Given the description of an element on the screen output the (x, y) to click on. 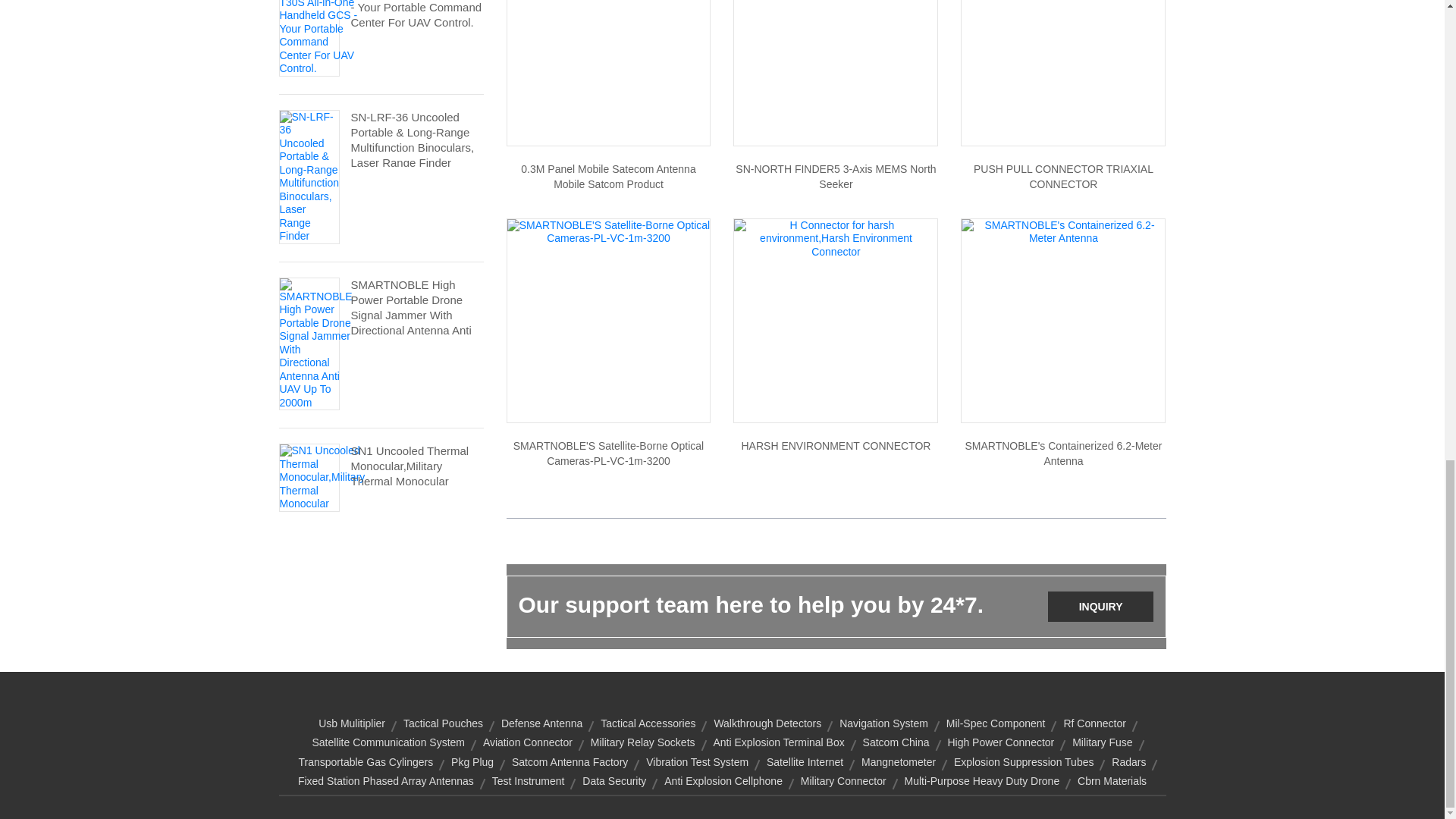
SMARTNOBLE'S Satellite-Borne Optical Cameras-PL-VC-1m-3200 (608, 231)
SN1 Uncooled Thermal Monocular,Military Thermal Monocular (416, 465)
SN1 Uncooled Thermal Monocular,Military Thermal Monocular (322, 476)
